Given the description of an element on the screen output the (x, y) to click on. 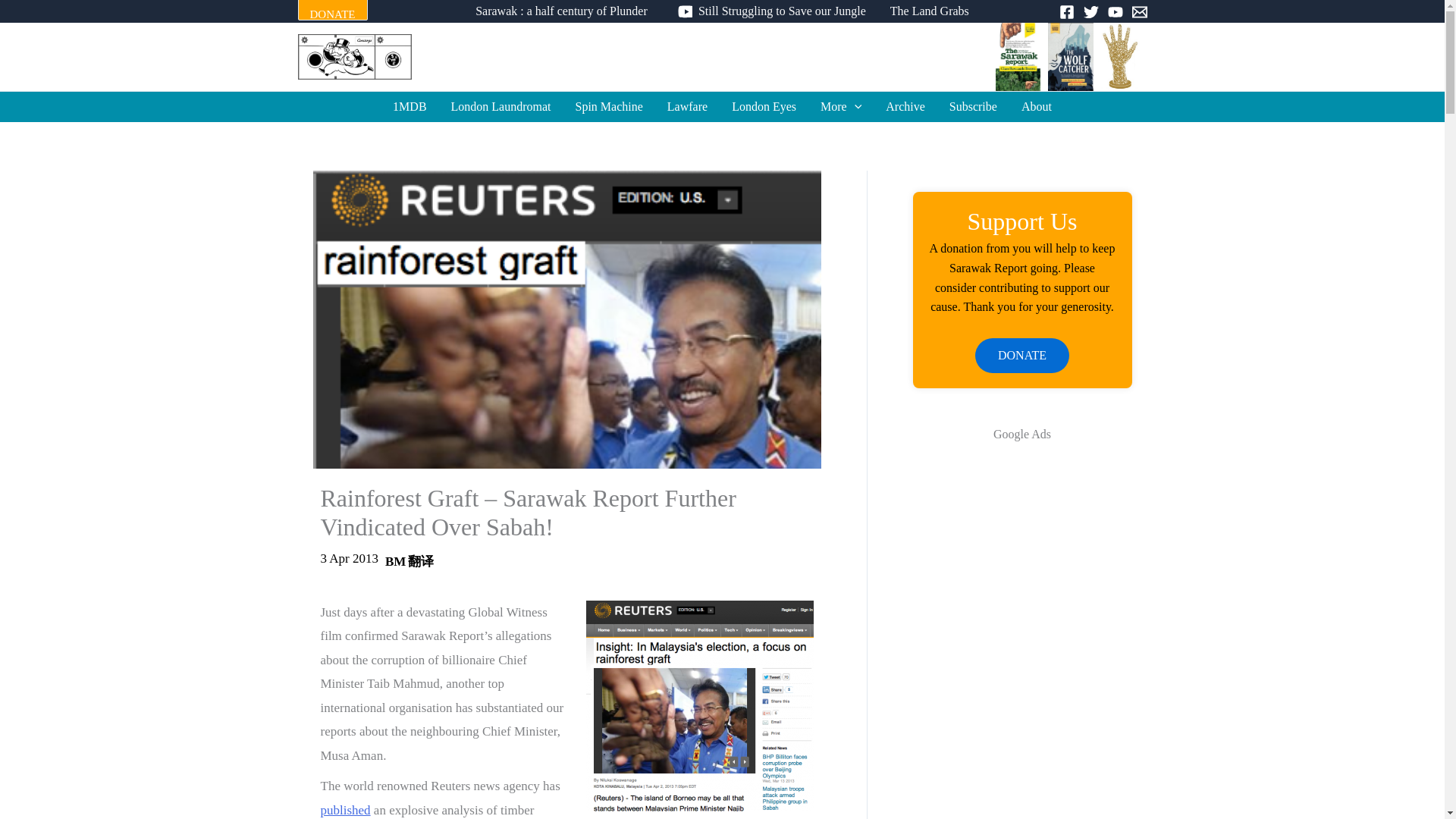
Archive (905, 106)
About (1036, 106)
DONATE (331, 14)
Subscribe (973, 106)
Still Struggling to Save our Jungle (768, 11)
London Laundromat (501, 106)
The Land Grabs (929, 11)
1MDB (409, 106)
London Eyes (763, 106)
More (840, 106)
